Given the description of an element on the screen output the (x, y) to click on. 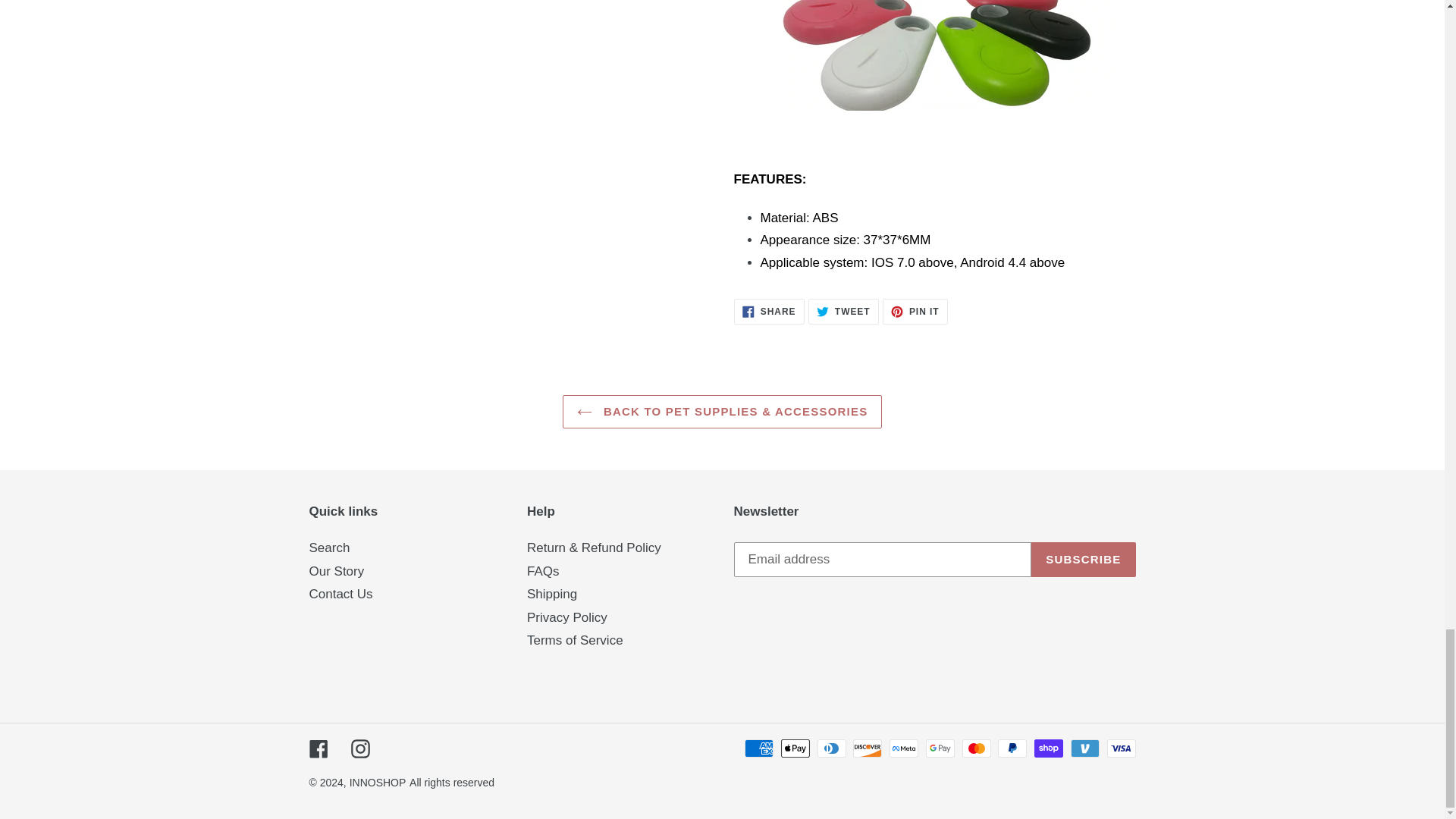
Facebook (318, 748)
Shipping (843, 311)
SUBSCRIBE (769, 311)
Instagram (551, 594)
Privacy Policy (1082, 559)
Search (359, 748)
Terms of Service (567, 617)
